Given the description of an element on the screen output the (x, y) to click on. 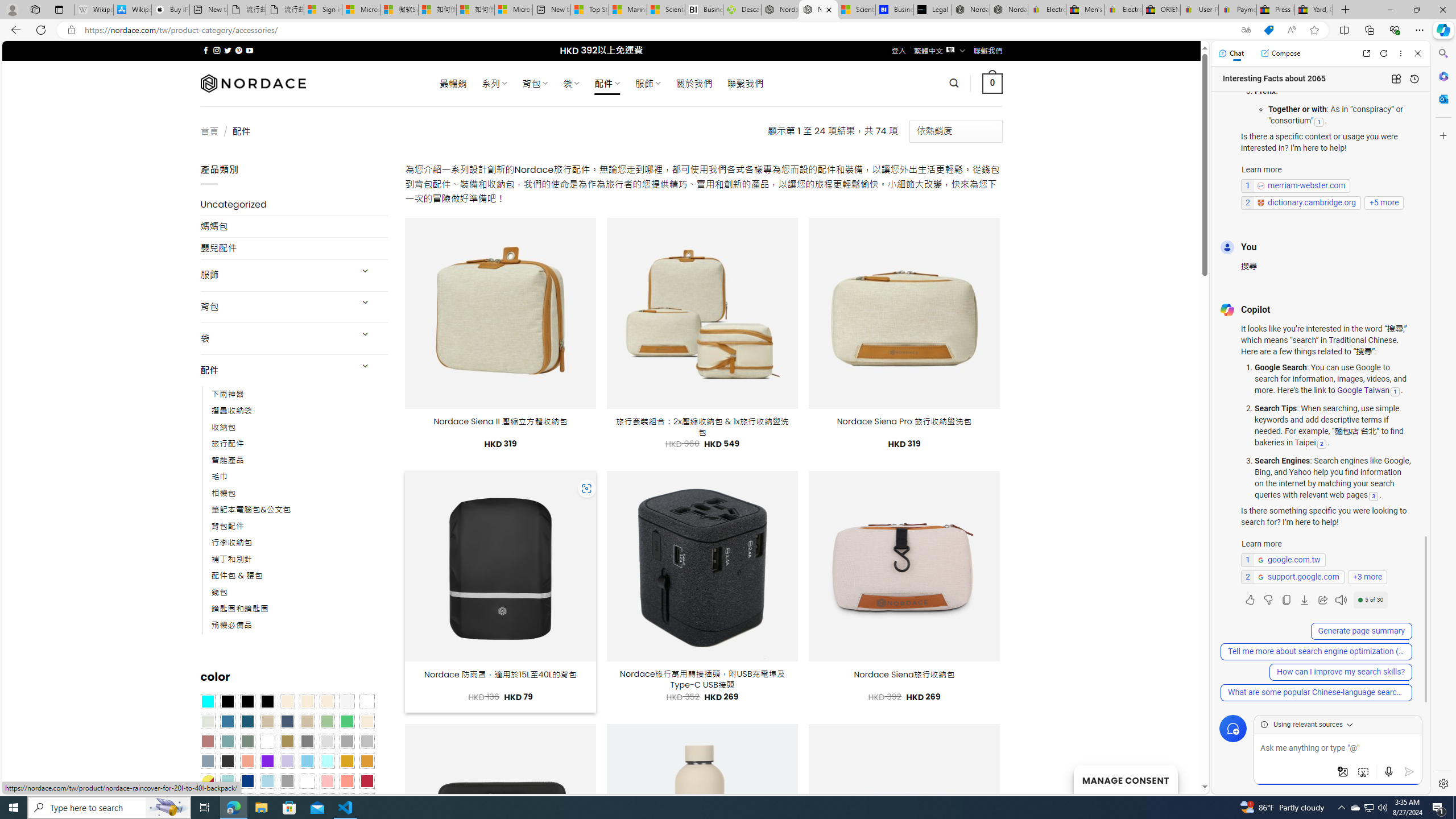
Cream (327, 701)
More options (1401, 53)
Side bar (1443, 418)
